Given the description of an element on the screen output the (x, y) to click on. 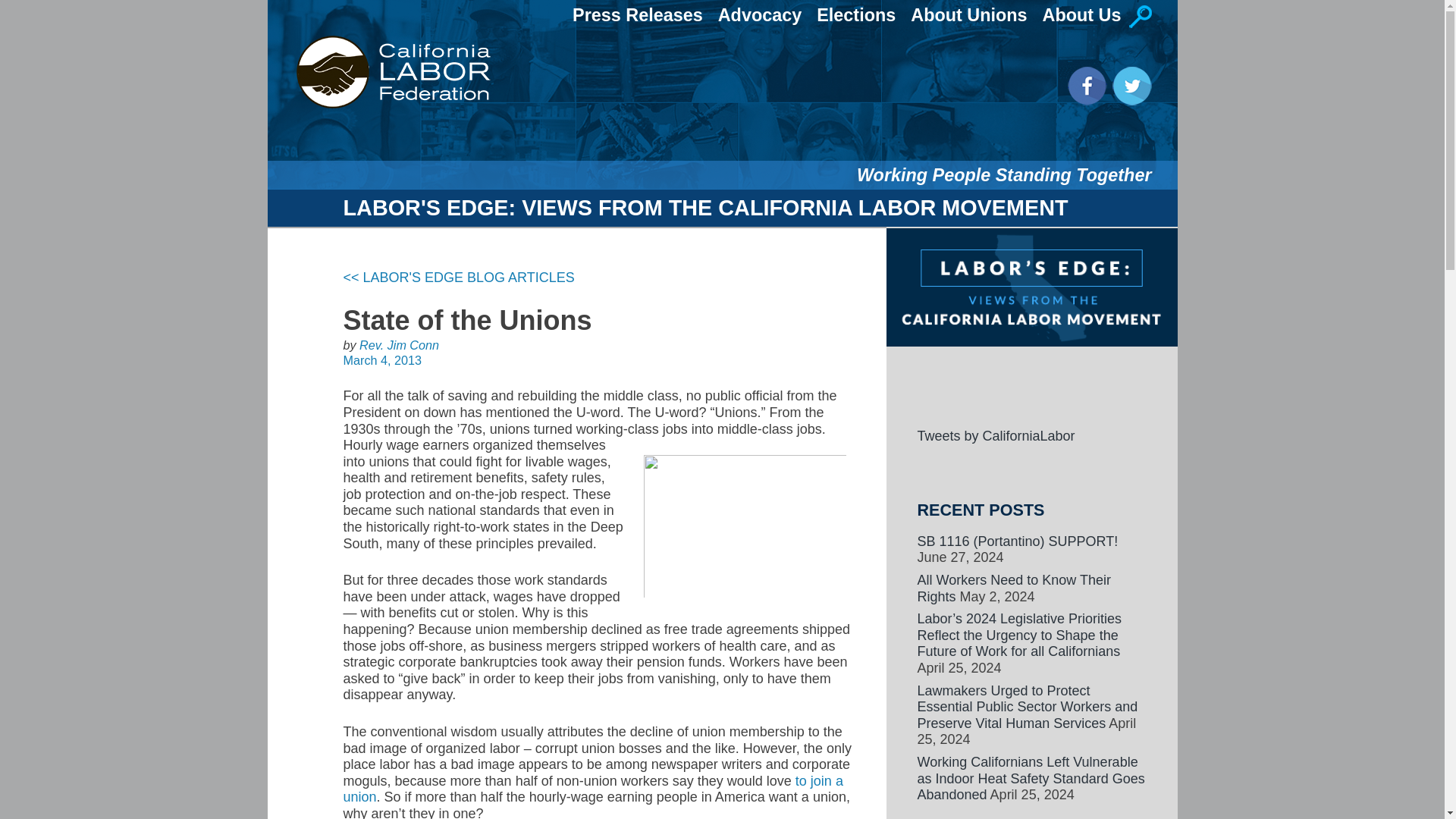
Advocacy (759, 15)
About Unions (968, 15)
About Us (1081, 15)
Tweets by CaliforniaLabor (996, 435)
Elections (855, 15)
Press Releases (637, 15)
Rev. Jim Conn (399, 345)
to join a union (592, 789)
March 4, 2013 (381, 359)
